Given the description of an element on the screen output the (x, y) to click on. 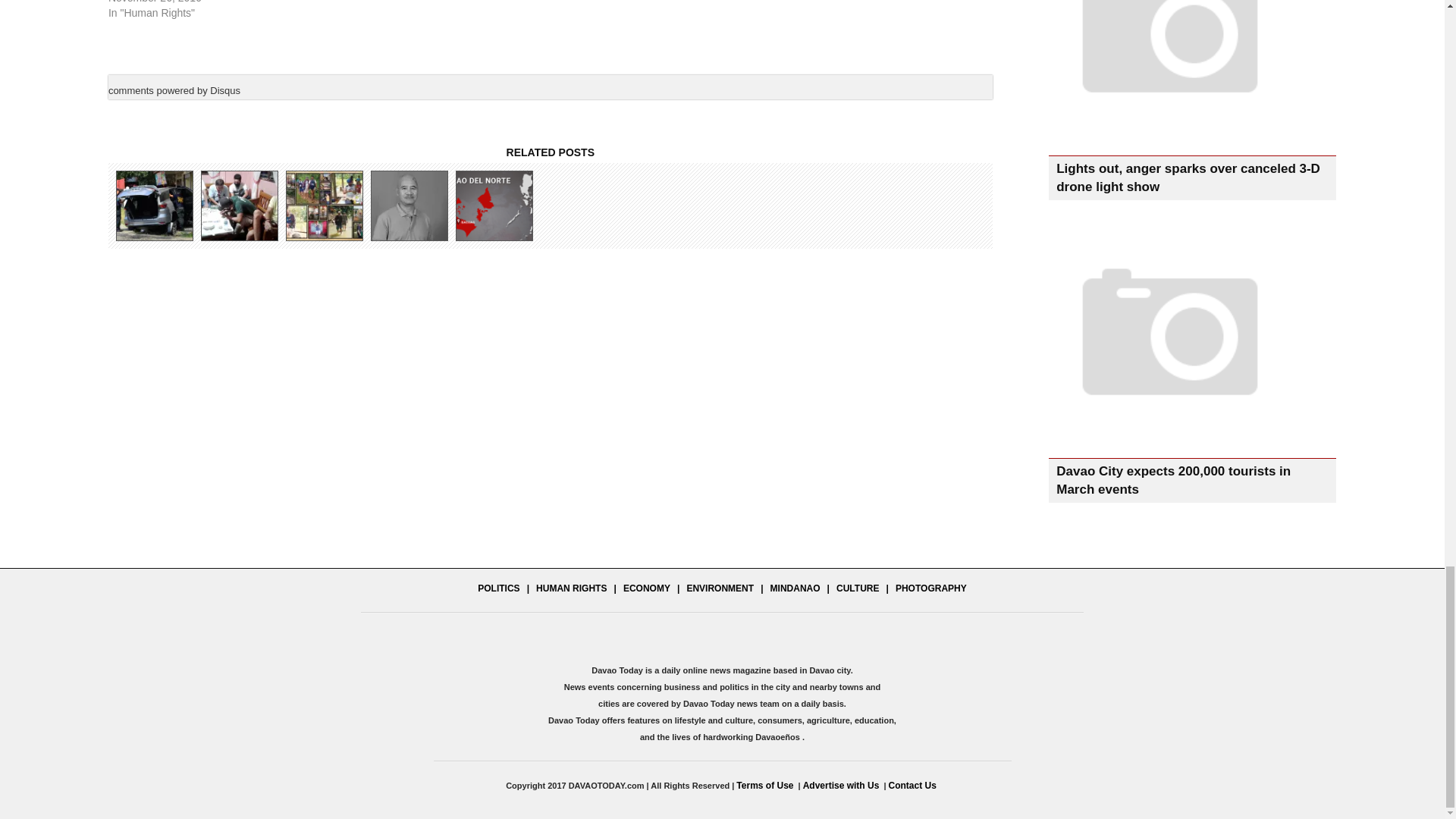
comments powered by Disqus (173, 90)
Kin of slain farmers: They are not NPAs (493, 205)
